Given the description of an element on the screen output the (x, y) to click on. 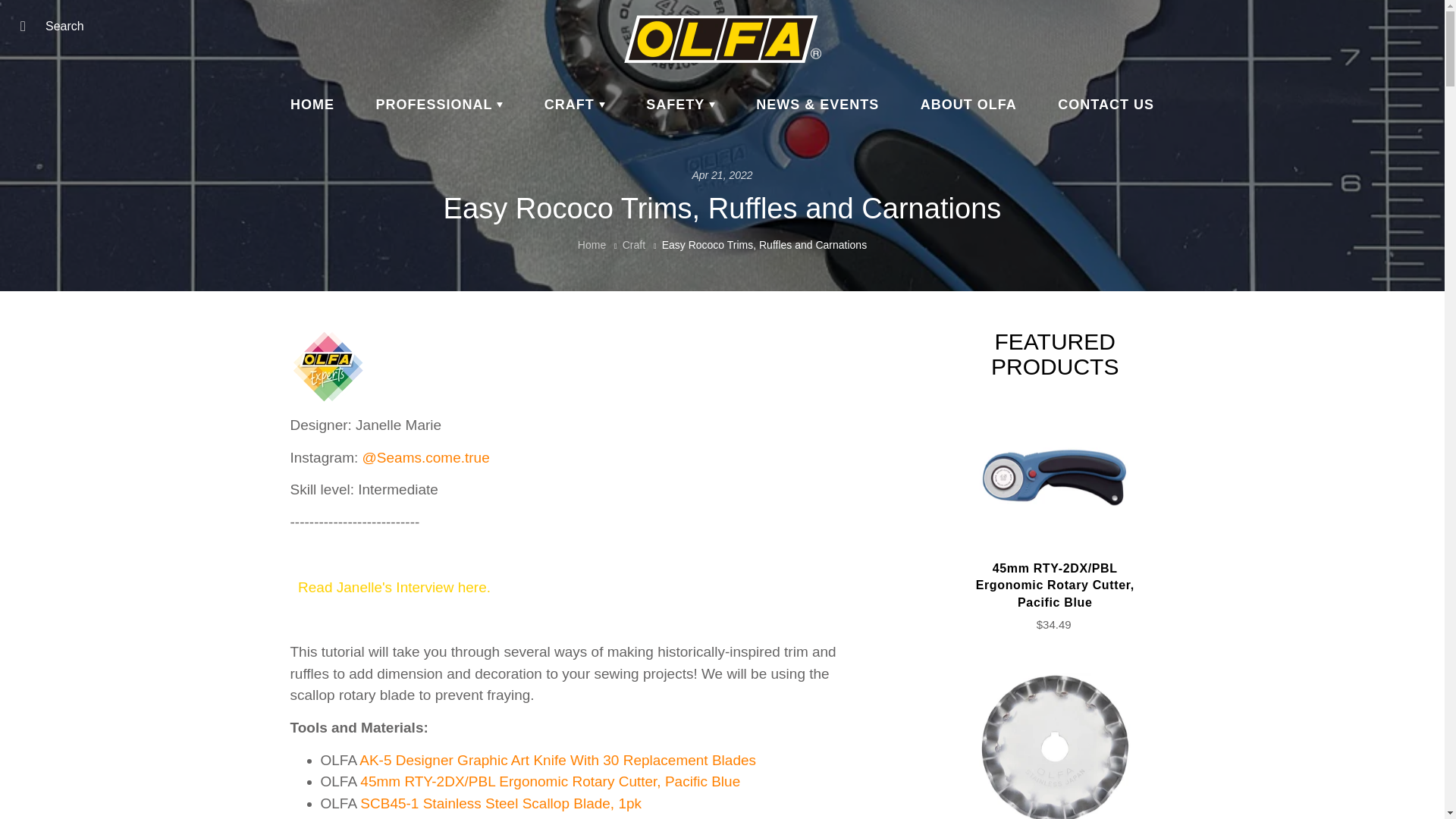
HOME (311, 104)
PROFESSIONAL (439, 104)
CRAFT (574, 104)
Search (28, 26)
Home (591, 244)
